Given the description of an element on the screen output the (x, y) to click on. 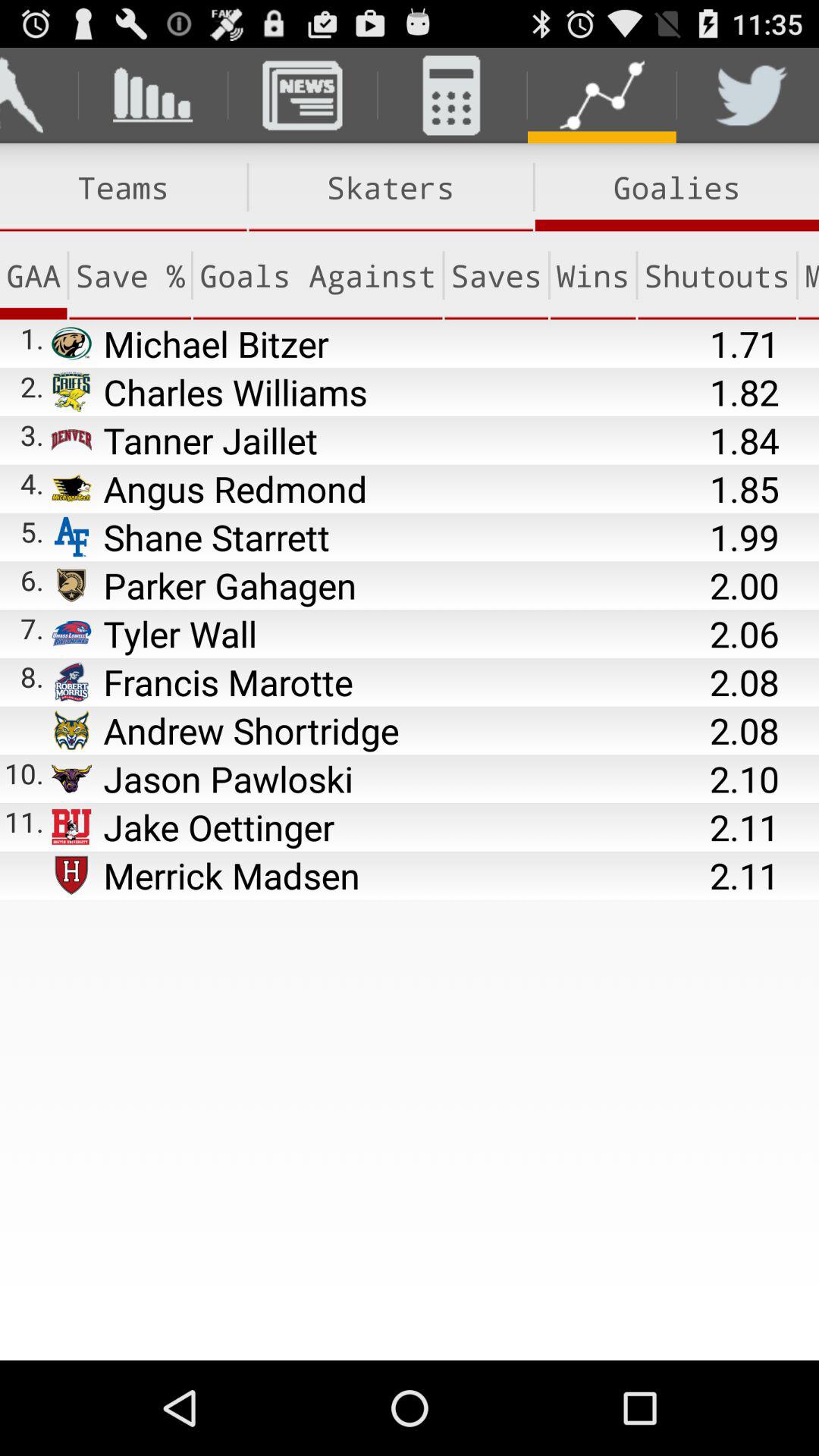
flip until the skaters item (390, 187)
